Given the description of an element on the screen output the (x, y) to click on. 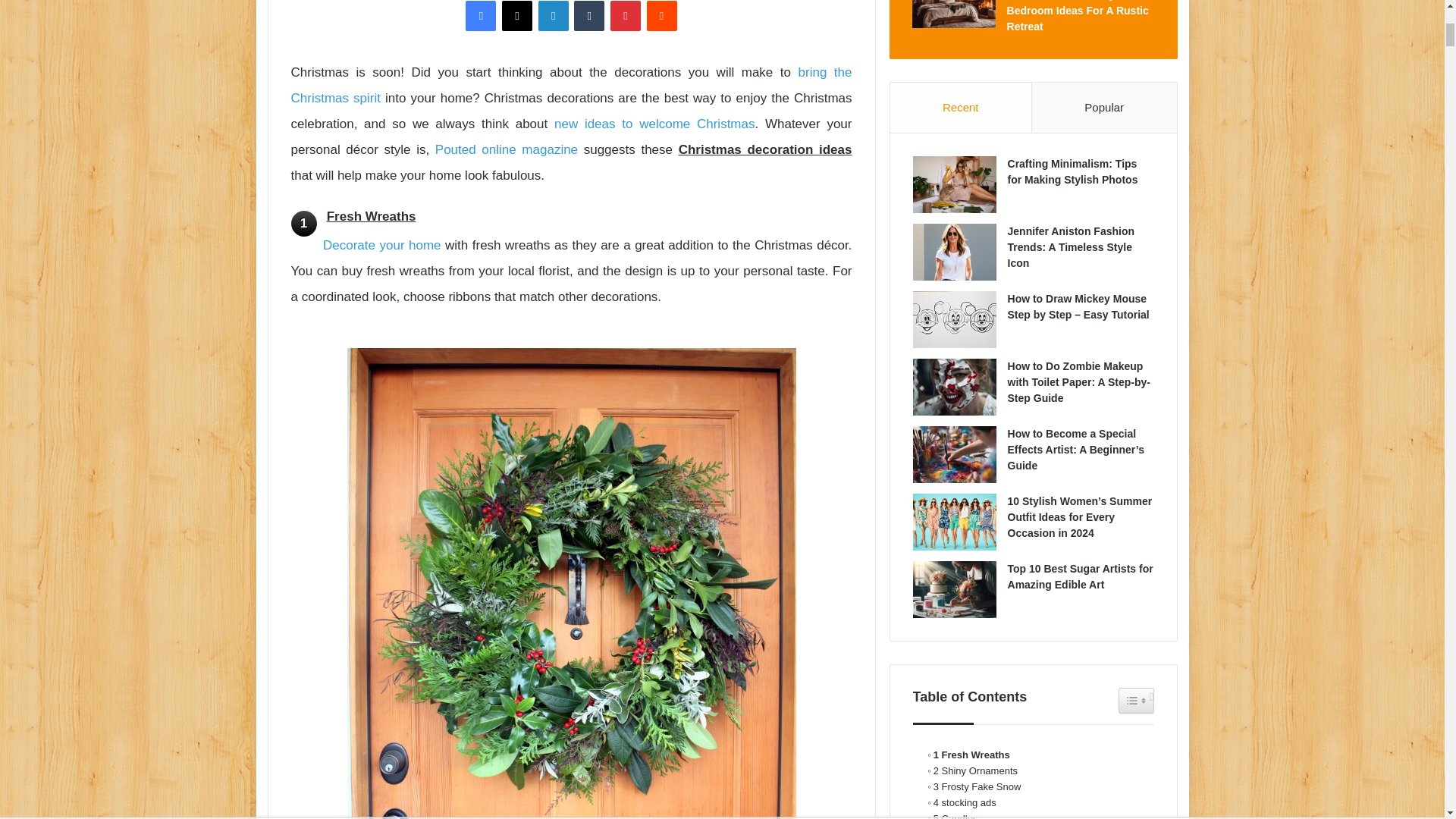
LinkedIn (553, 15)
Reddit (661, 15)
Facebook (480, 15)
Pinterest (625, 15)
X (517, 15)
Tumblr (588, 15)
